Given the description of an element on the screen output the (x, y) to click on. 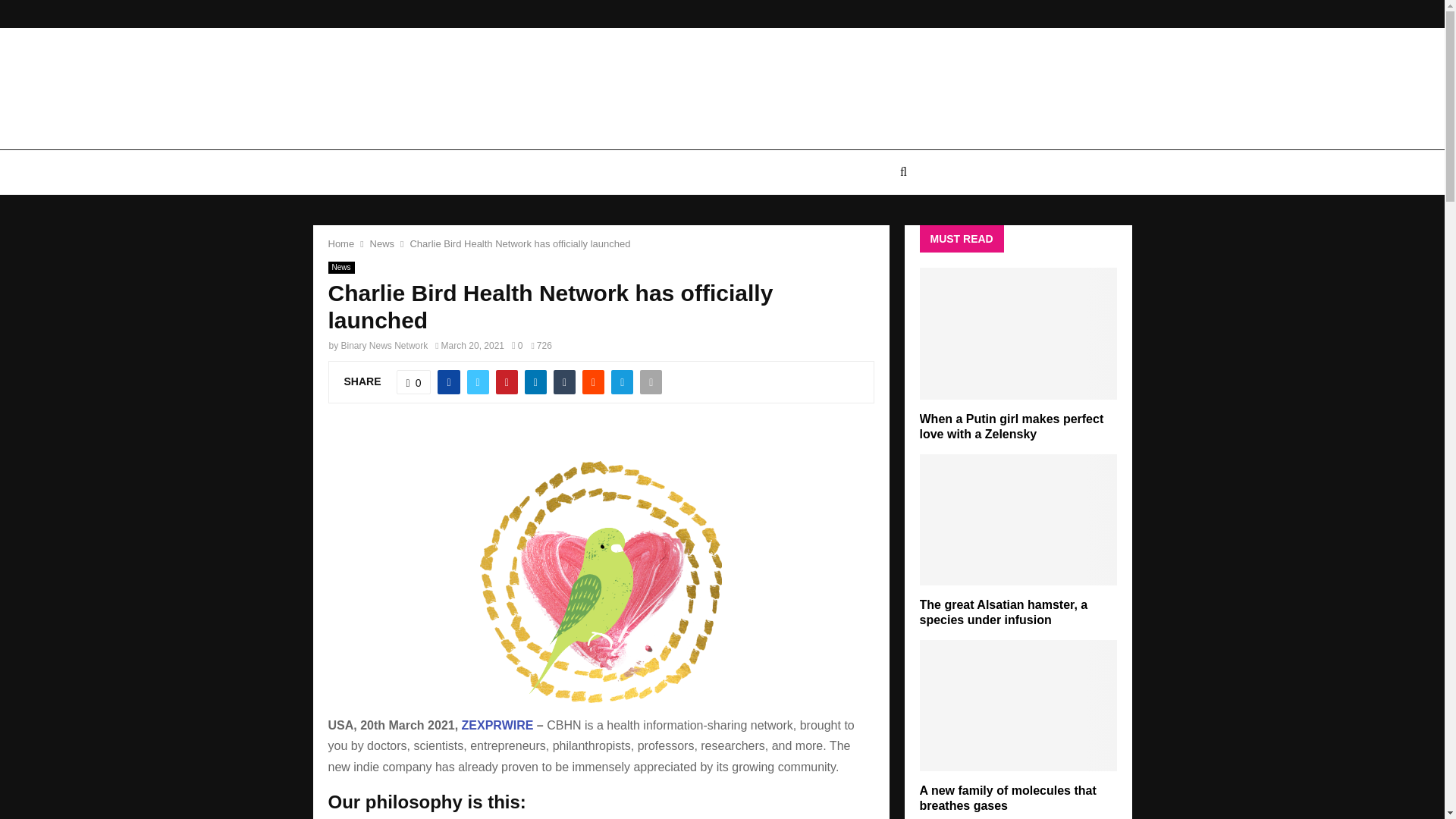
BUSINESS (673, 171)
Like (413, 381)
ZEXPRWIRE (497, 725)
0 (517, 345)
Home (340, 243)
News (381, 243)
0 (413, 381)
News (340, 267)
Charlie Bird Health Network has officially launched (519, 243)
Binary News Network (384, 345)
SPORTS (860, 171)
